Given the description of an element on the screen output the (x, y) to click on. 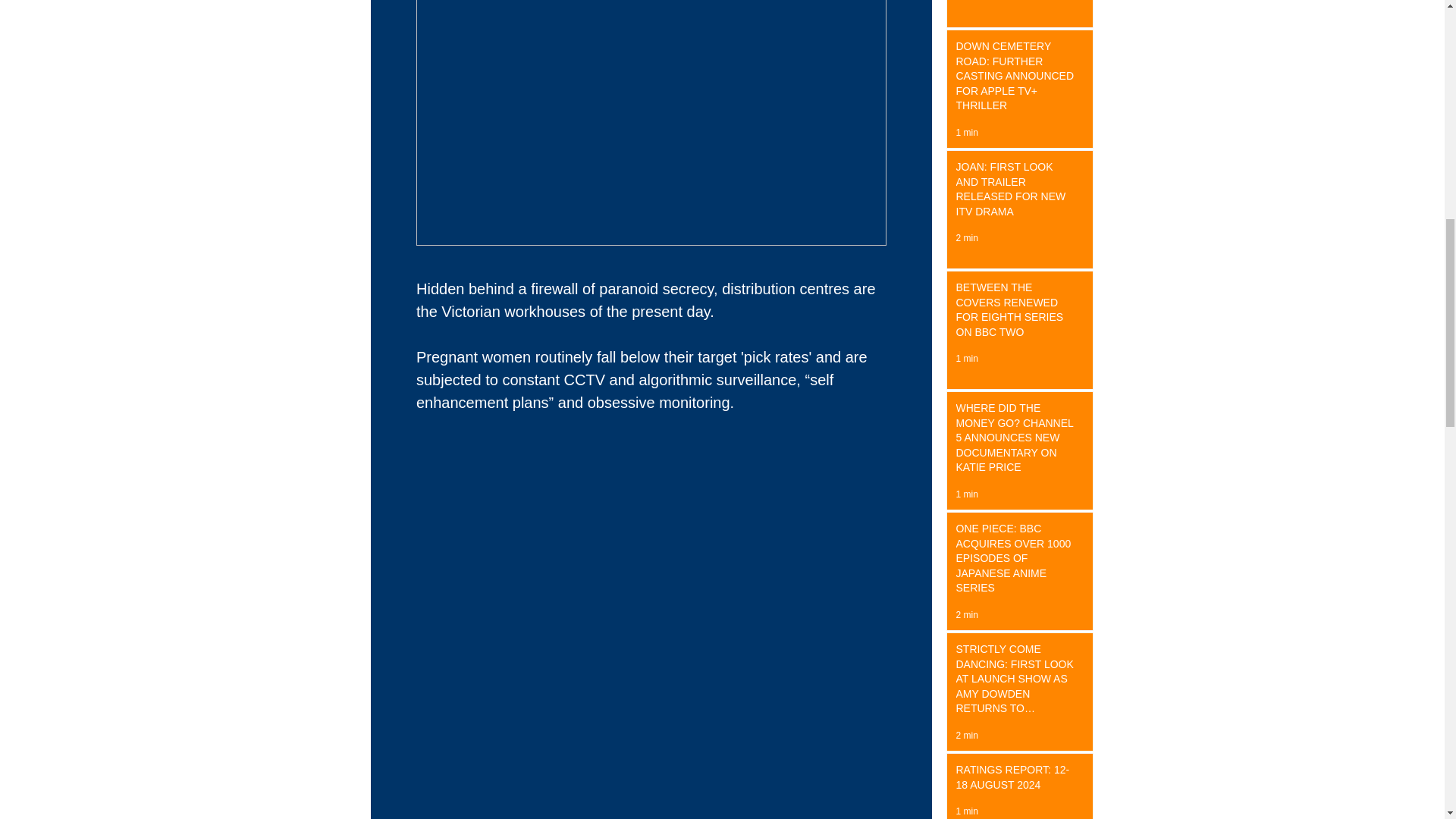
3 min (965, 1)
2 min (965, 237)
1 min (965, 493)
RATINGS REPORT: 12-18 AUGUST 2024 (1014, 780)
2 min (965, 735)
2 min (965, 614)
1 min (965, 357)
